Given the description of an element on the screen output the (x, y) to click on. 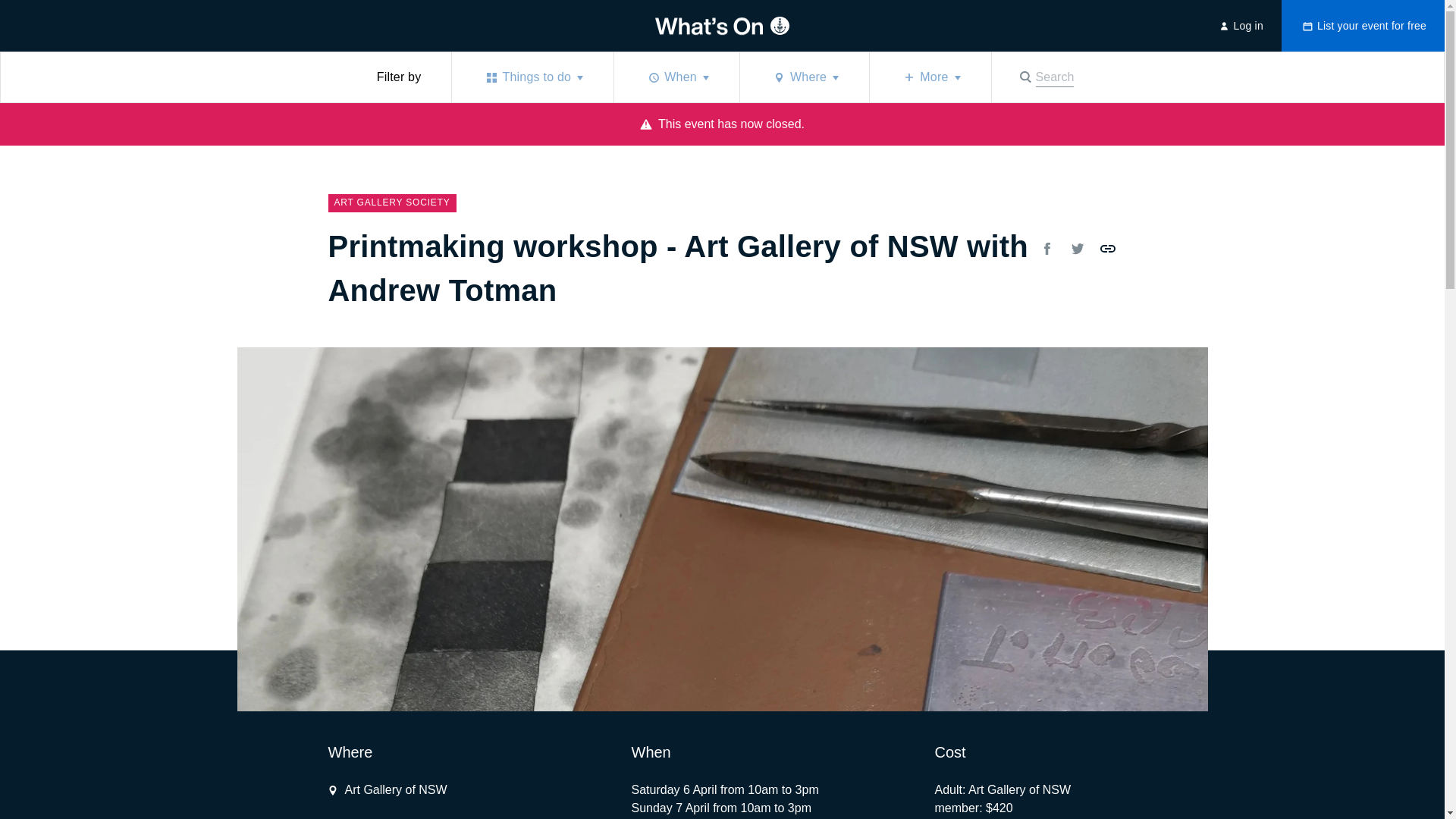
When (1239, 25)
Where (676, 77)
Where (804, 77)
Search (804, 77)
Things to do (1045, 77)
Copy this link (531, 77)
Share on Facebook (1106, 248)
Share on Twitter (1045, 248)
Things to do (1076, 248)
Art Gallery of NSW (531, 77)
Search (386, 790)
Copy this link (1045, 77)
Log in (1106, 248)
More (1239, 25)
